Given the description of an element on the screen output the (x, y) to click on. 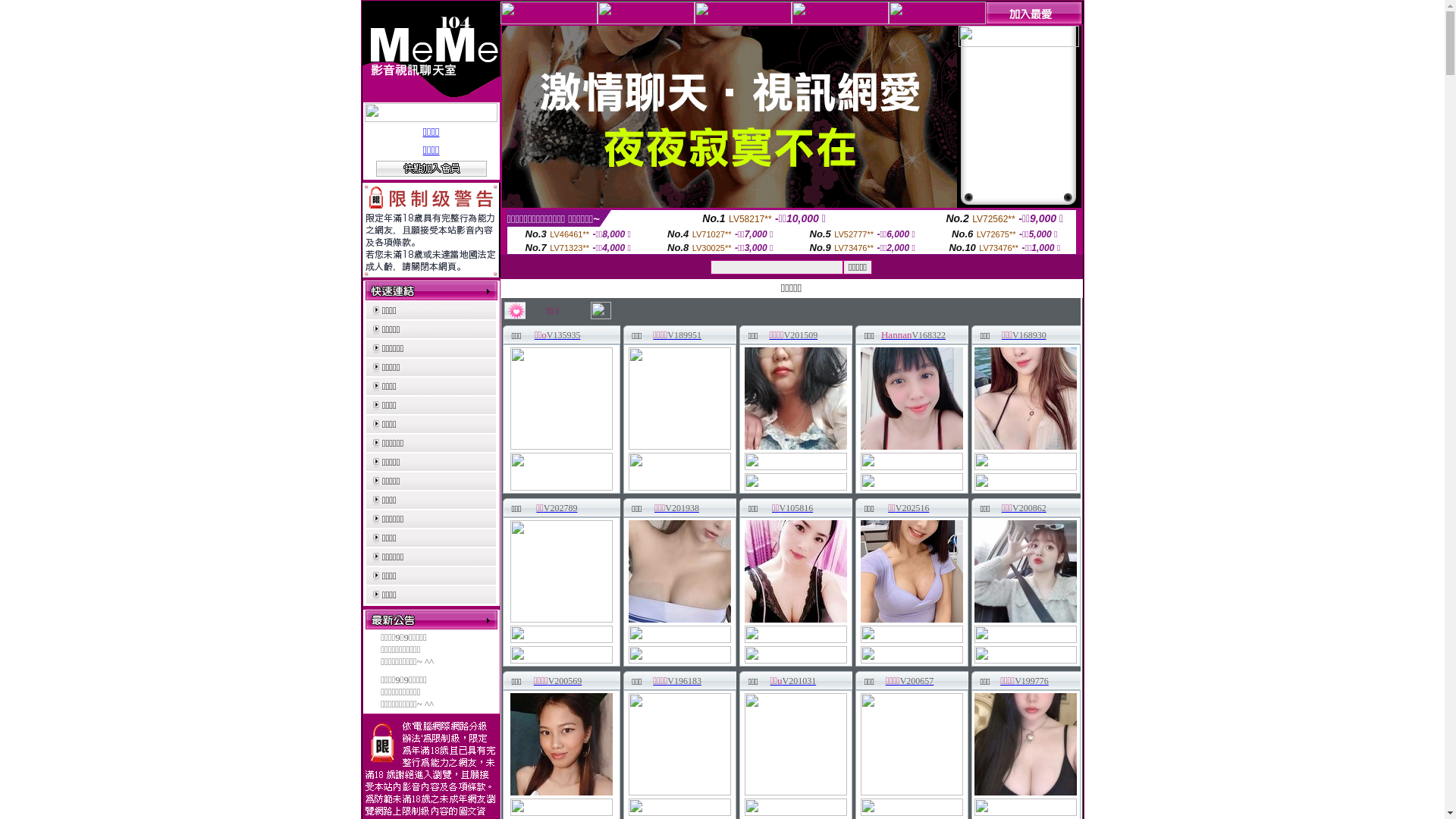
V196183 Element type: text (684, 680)
V200569 Element type: text (565, 680)
V135935 Element type: text (563, 334)
Hannan Element type: text (896, 334)
V200657 Element type: text (917, 680)
V105816 Element type: text (796, 507)
V201031 Element type: text (799, 680)
V200862 Element type: text (1029, 507)
V201938 Element type: text (682, 507)
V199776 Element type: text (1031, 680)
V201509 Element type: text (801, 334)
V168322 Element type: text (928, 334)
V202789 Element type: text (560, 507)
V168930 Element type: text (1029, 334)
V202516 Element type: text (912, 507)
V189951 Element type: text (684, 334)
